Given the description of an element on the screen output the (x, y) to click on. 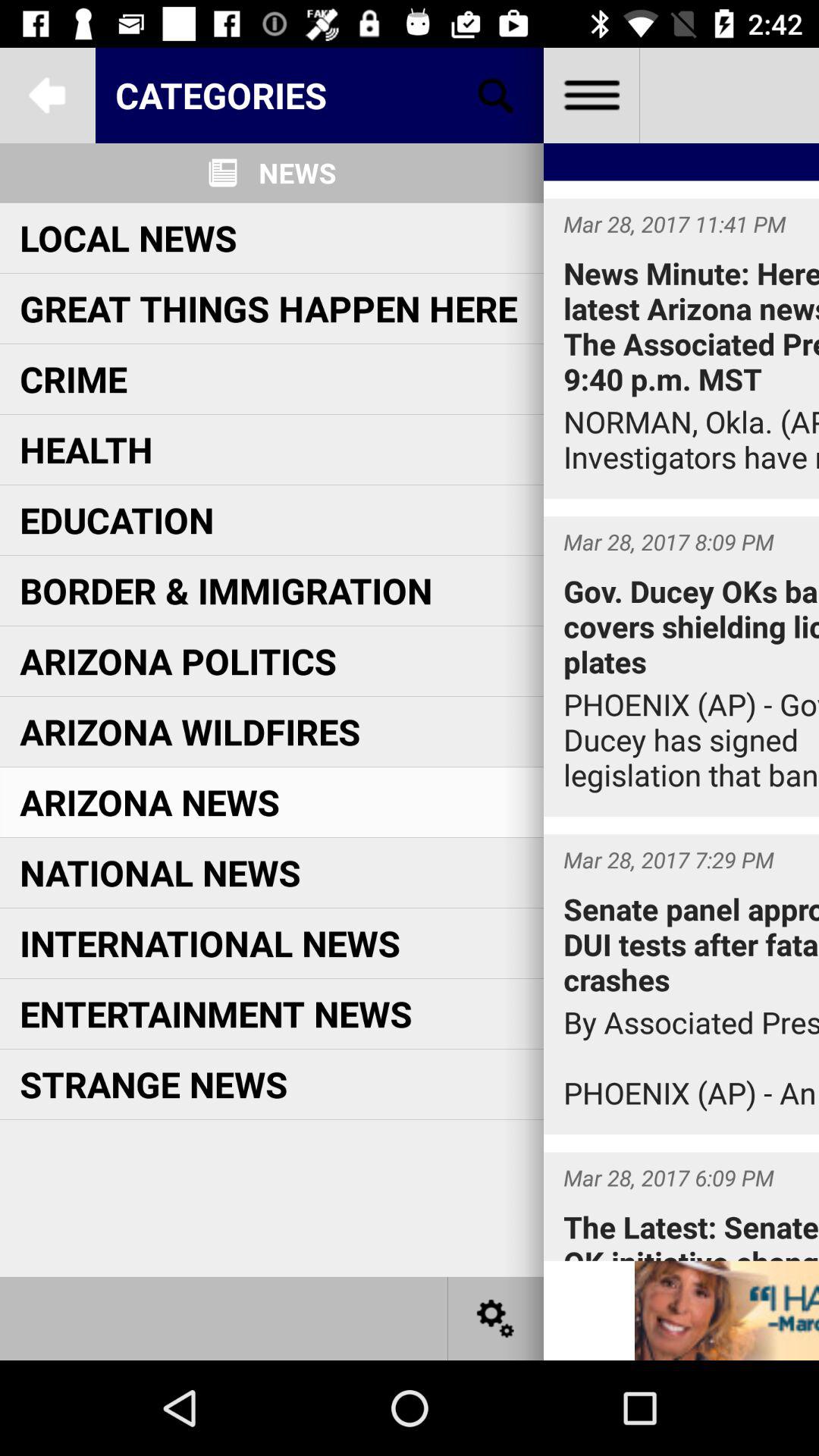
click on the latest text which is in the bottom (681, 1206)
